Given the description of an element on the screen output the (x, y) to click on. 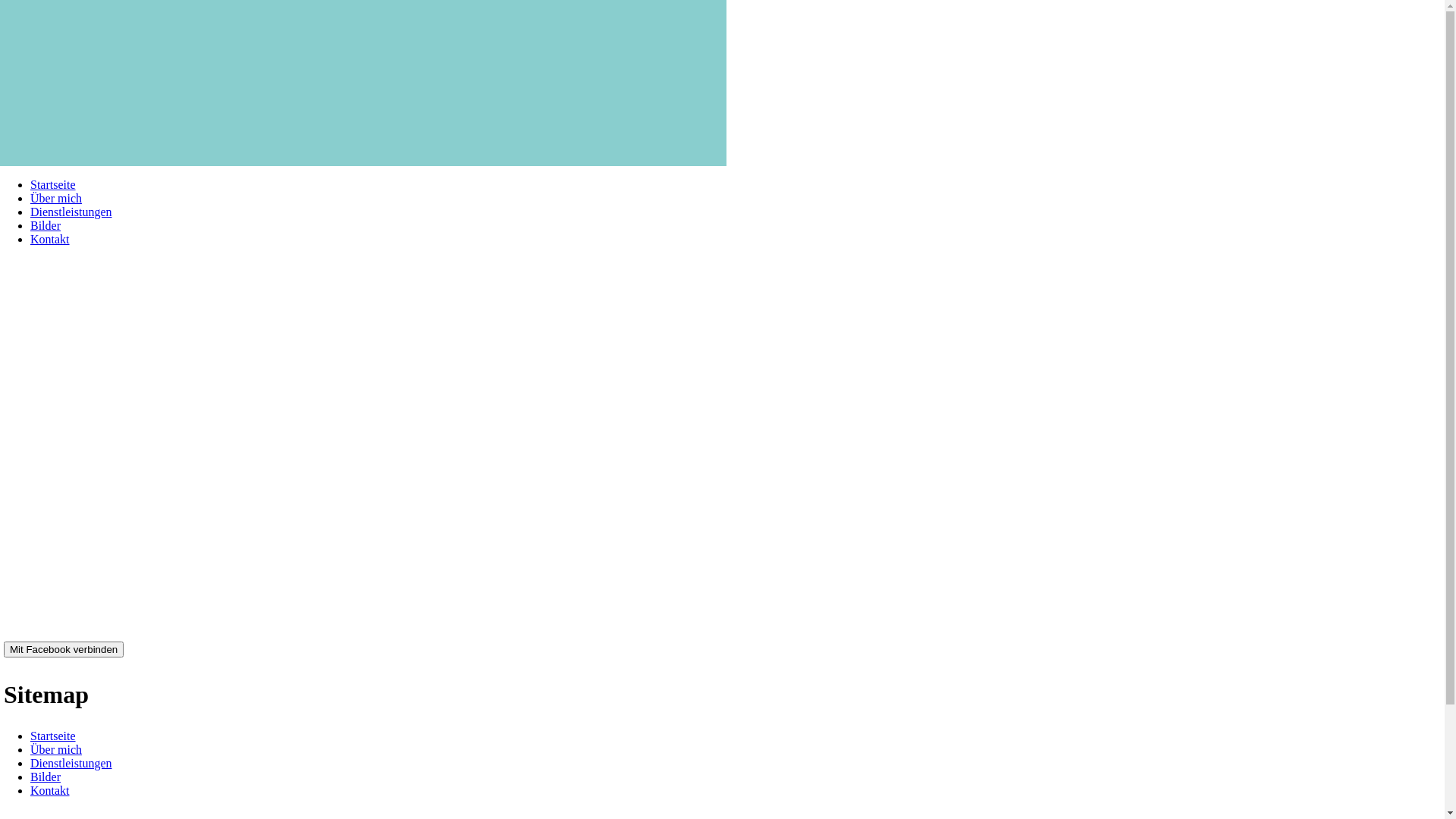
Kontakt Element type: text (49, 790)
Startseite Element type: text (52, 735)
Mit Facebook verbinden Element type: text (63, 649)
Bilder Element type: text (45, 776)
Dienstleistungen Element type: text (71, 211)
Dienstleistungen Element type: text (71, 762)
Bilder Element type: text (45, 225)
Startseite Element type: text (52, 184)
Kontakt Element type: text (49, 238)
